Given the description of an element on the screen output the (x, y) to click on. 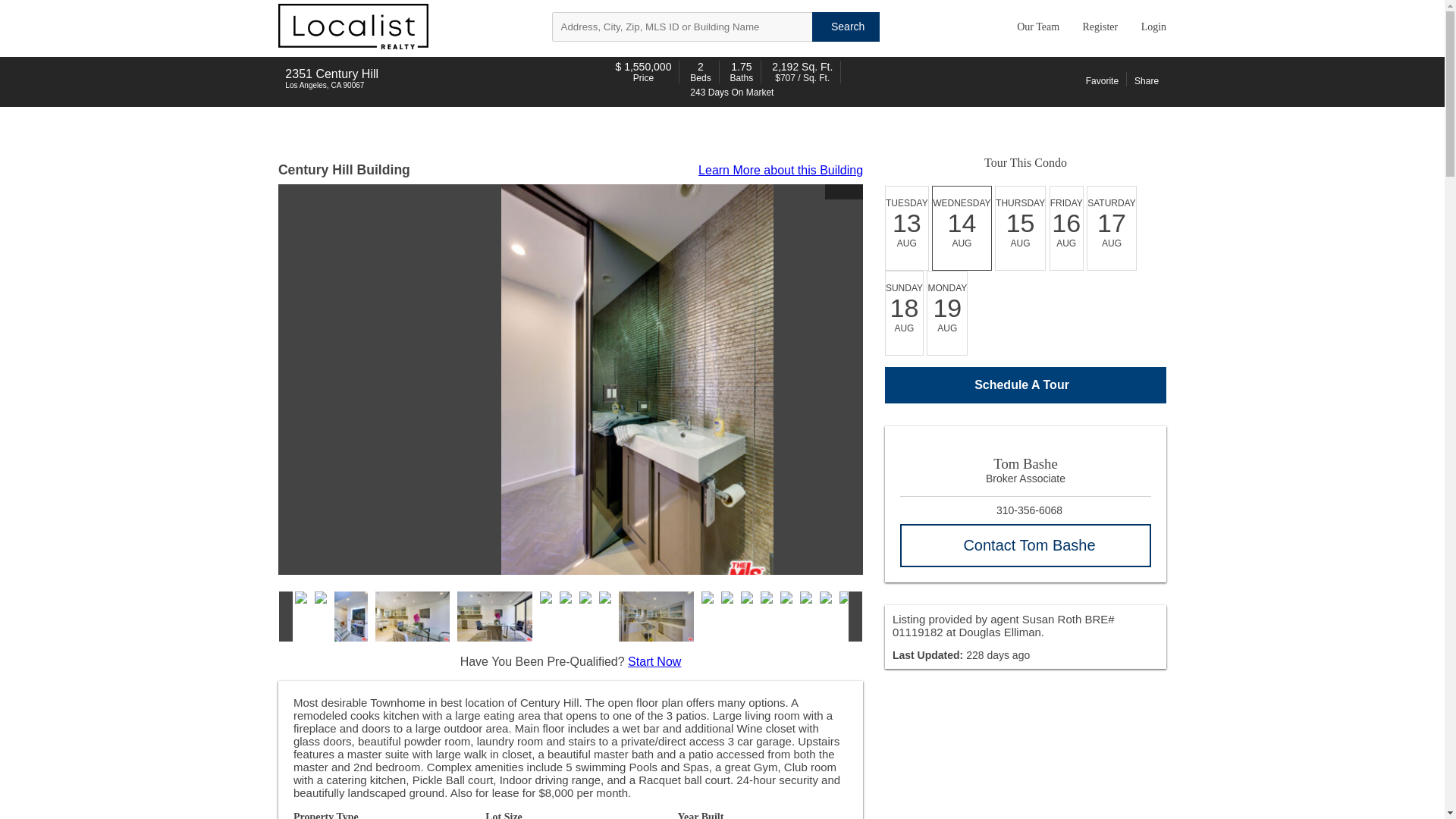
Register (1096, 26)
Our Team (1034, 26)
Search (845, 26)
Learn More about this Building (780, 169)
Login (1150, 26)
